Given the description of an element on the screen output the (x, y) to click on. 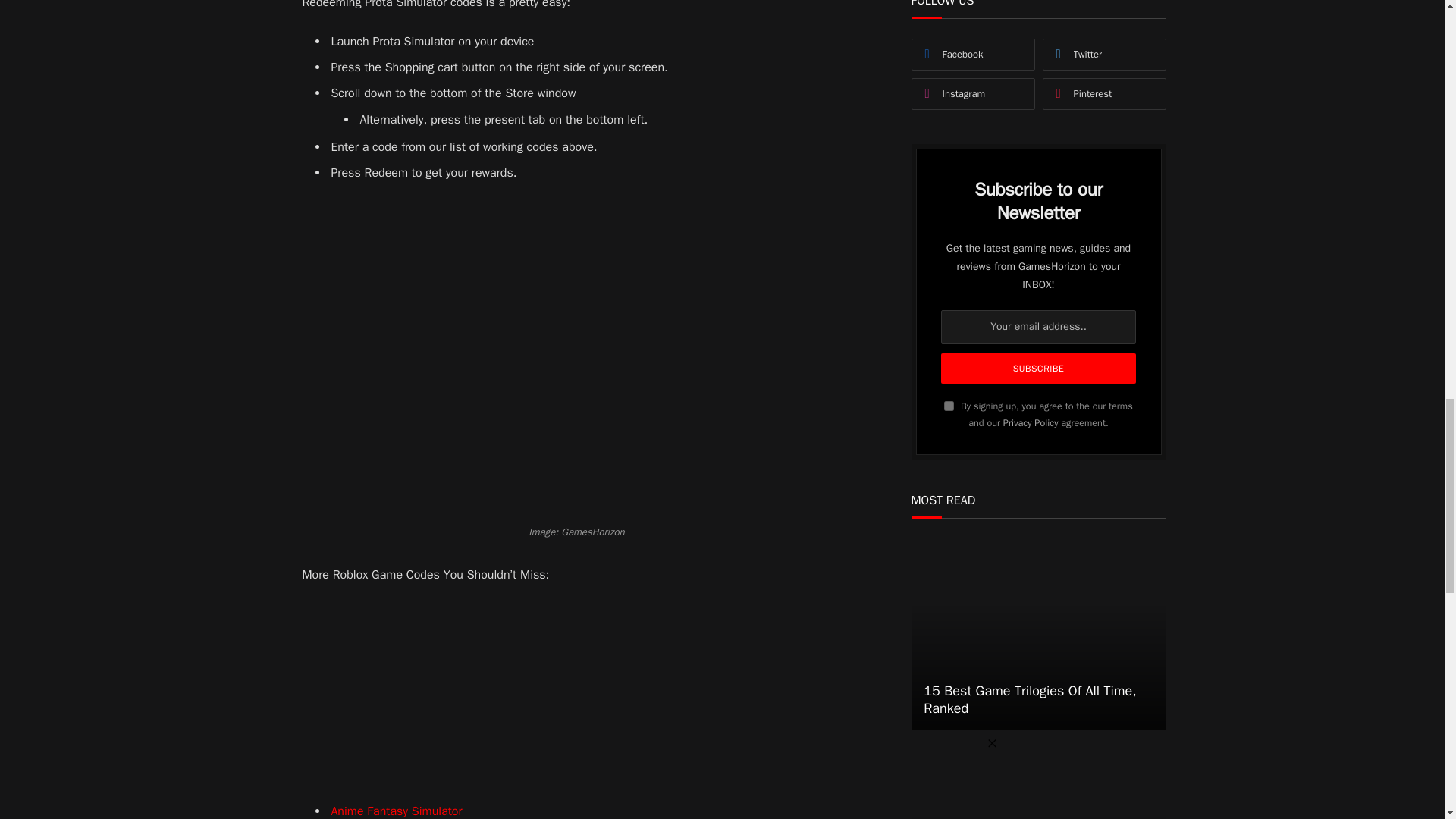
on (948, 406)
SUBSCRIBE (1037, 368)
